Given the description of an element on the screen output the (x, y) to click on. 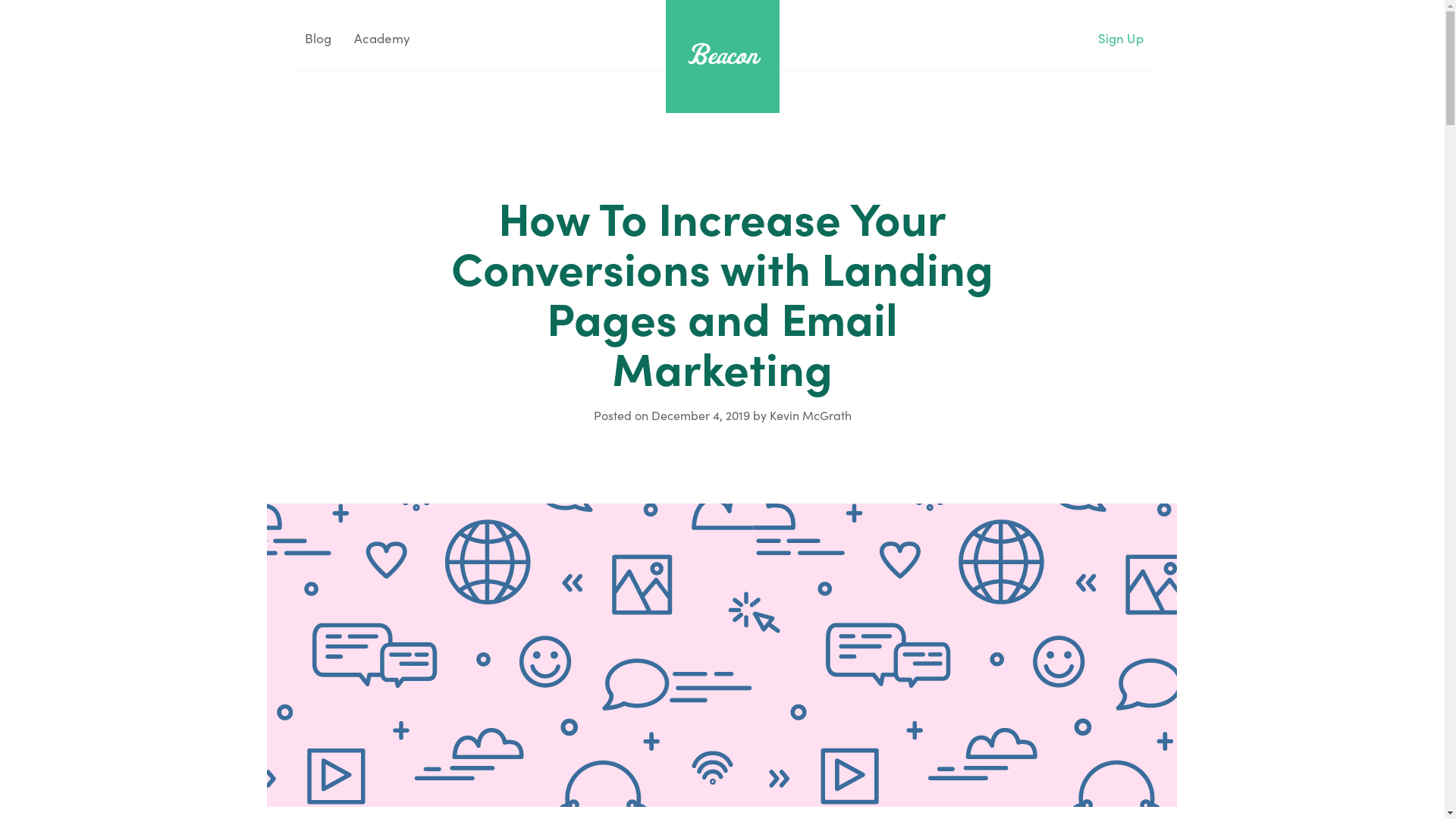
Sign Up Element type: text (1119, 37)
Beacon Element type: hover (722, 53)
December 4, 2019 Element type: text (699, 414)
Academy Element type: text (381, 37)
Kevin McGrath Element type: text (809, 414)
 Blog Element type: text (315, 37)
